Given the description of an element on the screen output the (x, y) to click on. 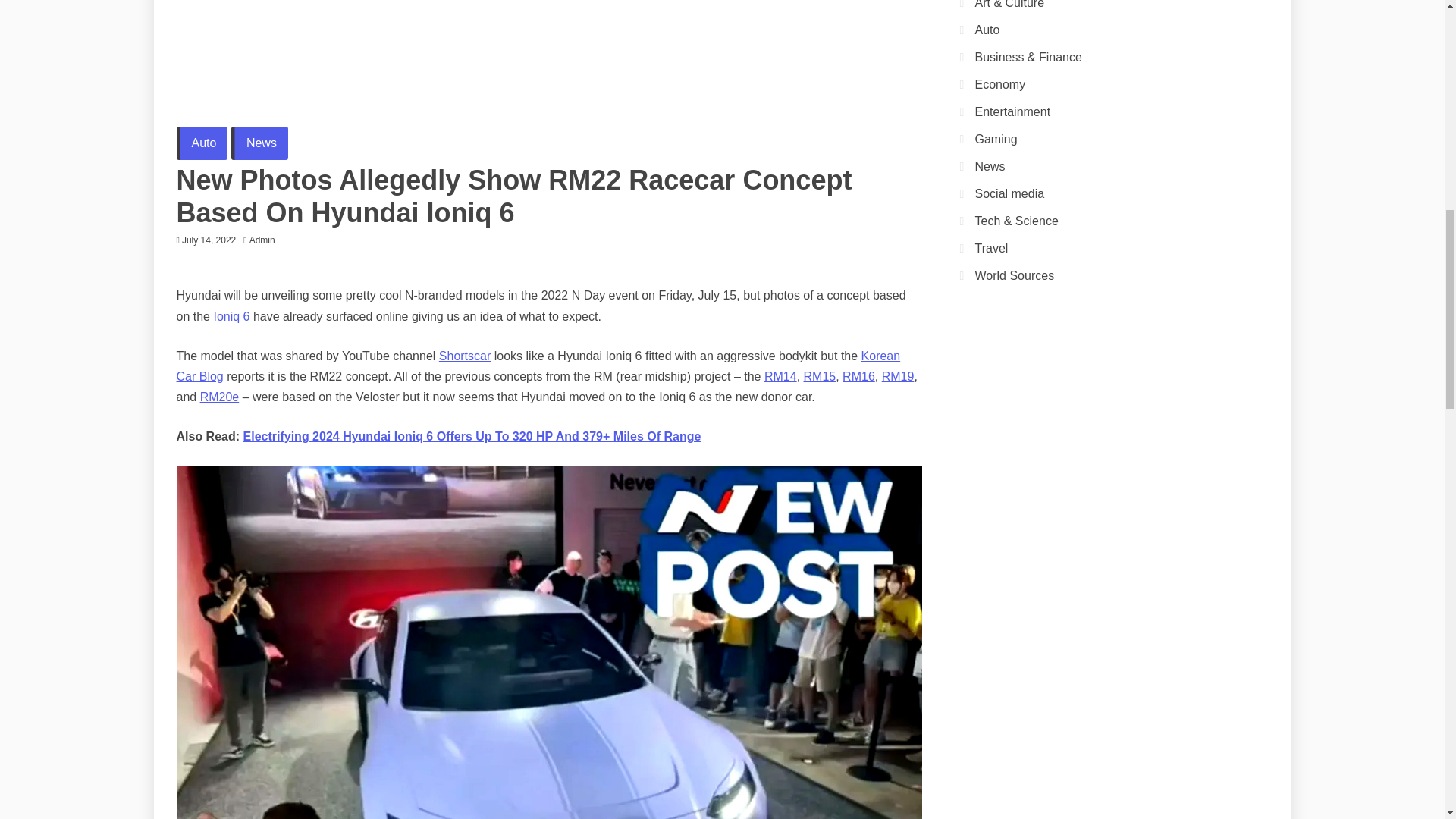
Ioniq 6 (230, 316)
News (259, 142)
RM19 (898, 376)
RM15 (819, 376)
RM20e (220, 396)
Admin (265, 240)
Korean Car Blog (537, 366)
July 14, 2022 (208, 240)
RM14 (780, 376)
RM16 (859, 376)
